Given the description of an element on the screen output the (x, y) to click on. 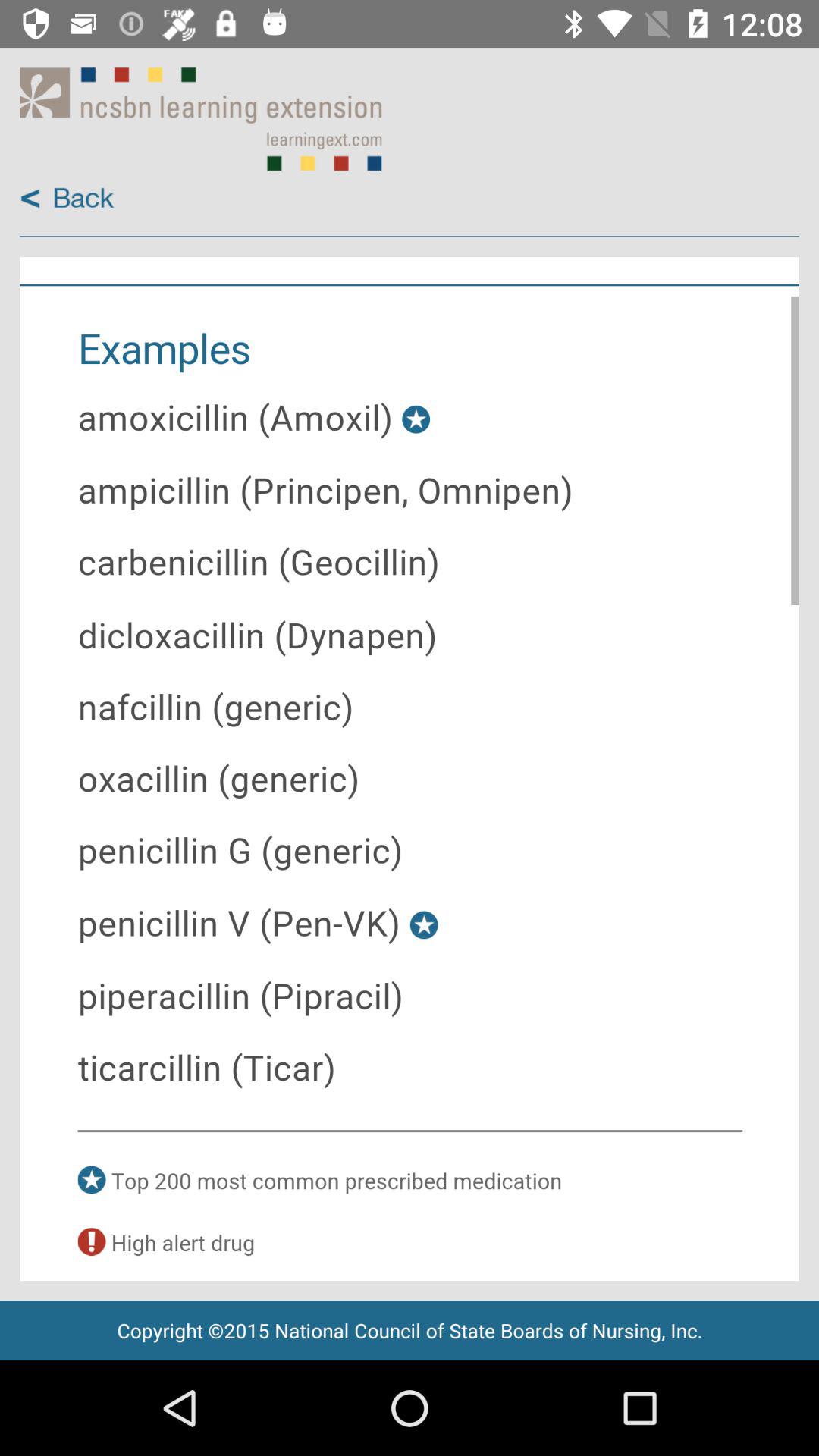
go back (66, 198)
